Given the description of an element on the screen output the (x, y) to click on. 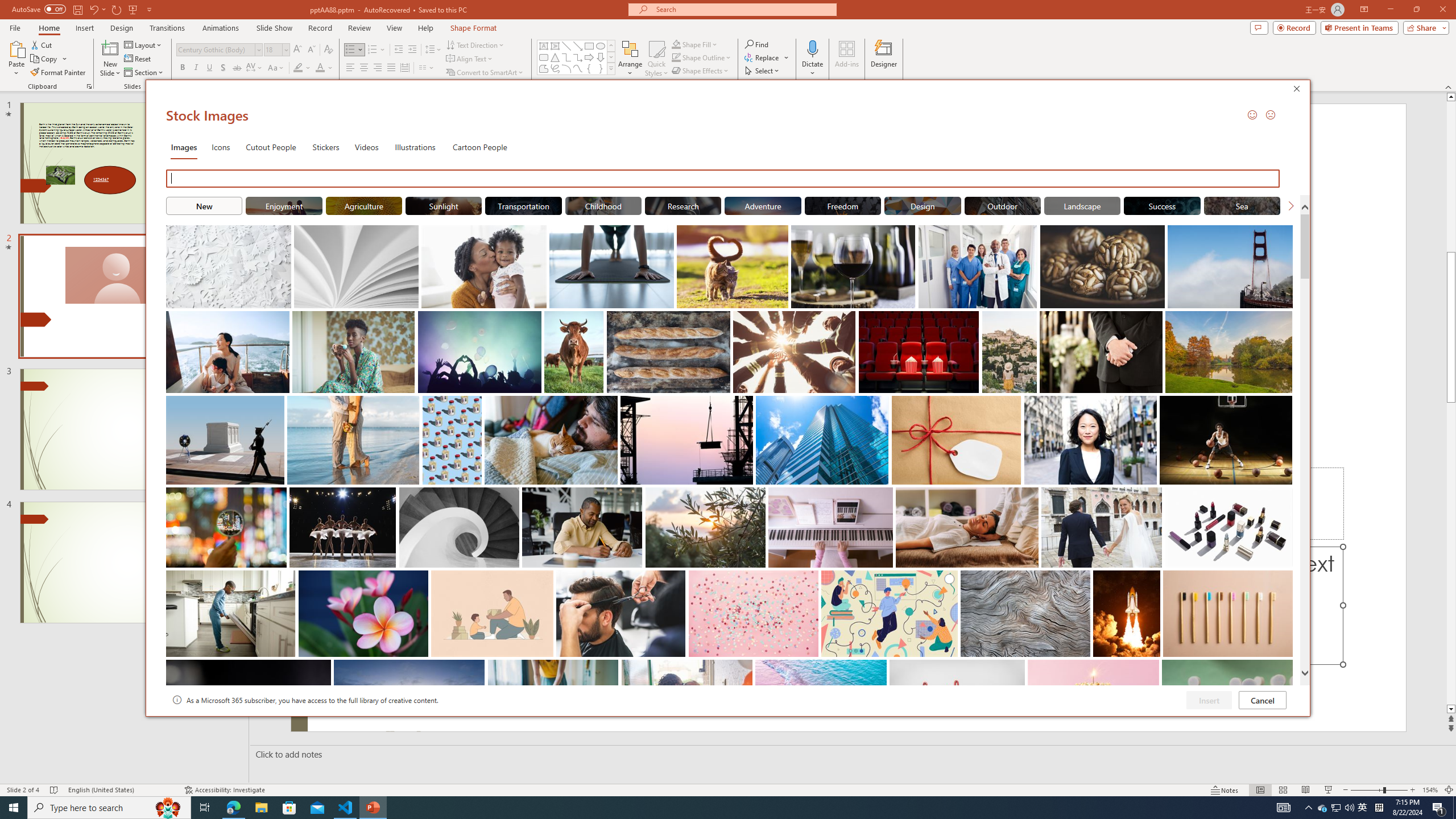
Cartoon People (479, 146)
Send a Frown (1269, 114)
